Given the description of an element on the screen output the (x, y) to click on. 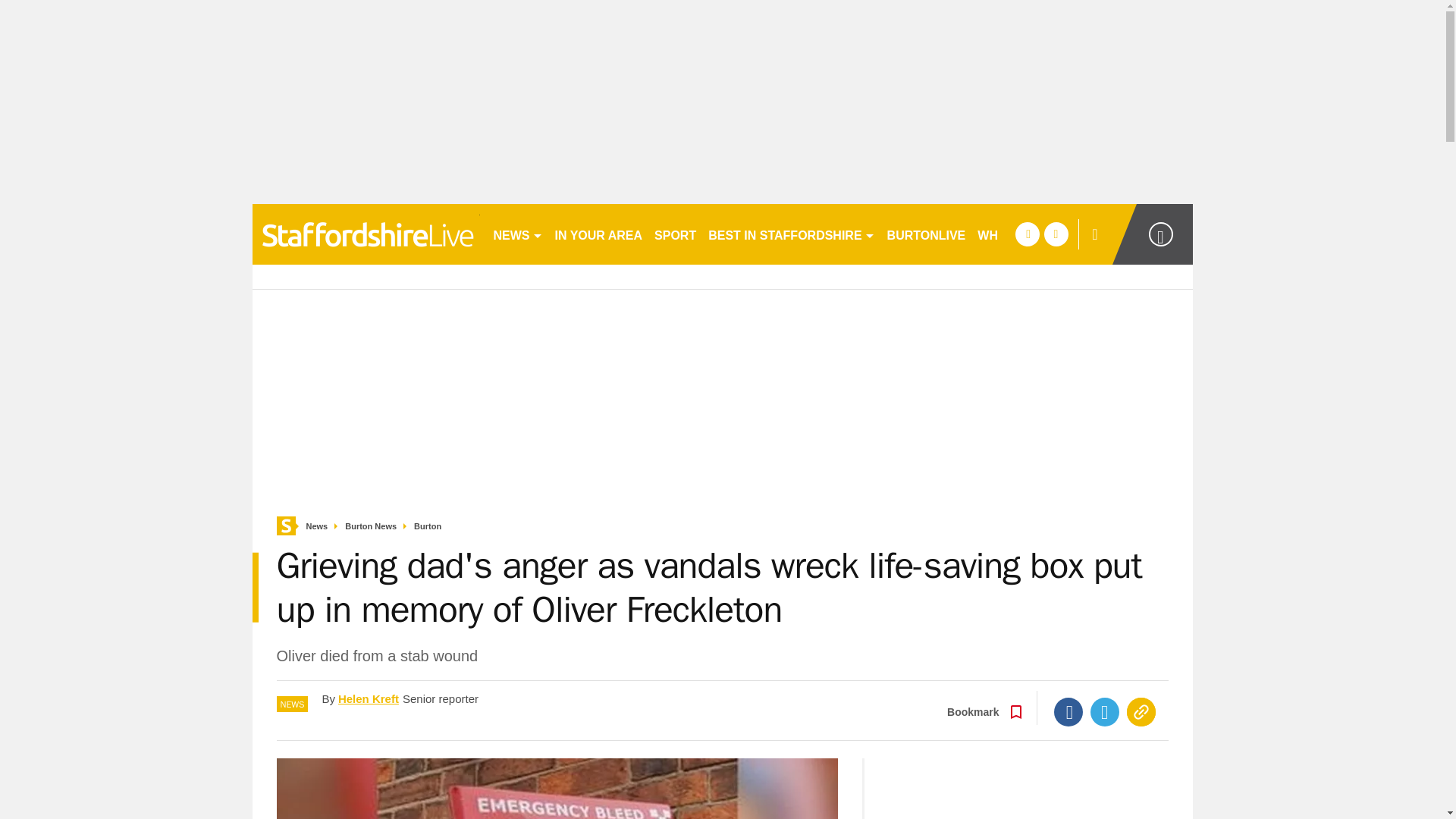
BURTONLIVE (926, 233)
BEST IN STAFFORDSHIRE (790, 233)
burtonmail (365, 233)
Facebook (1068, 711)
WHO WE ARE (1017, 233)
NEWS (517, 233)
IN YOUR AREA (598, 233)
Twitter (1104, 711)
twitter (1055, 233)
facebook (1026, 233)
